Given the description of an element on the screen output the (x, y) to click on. 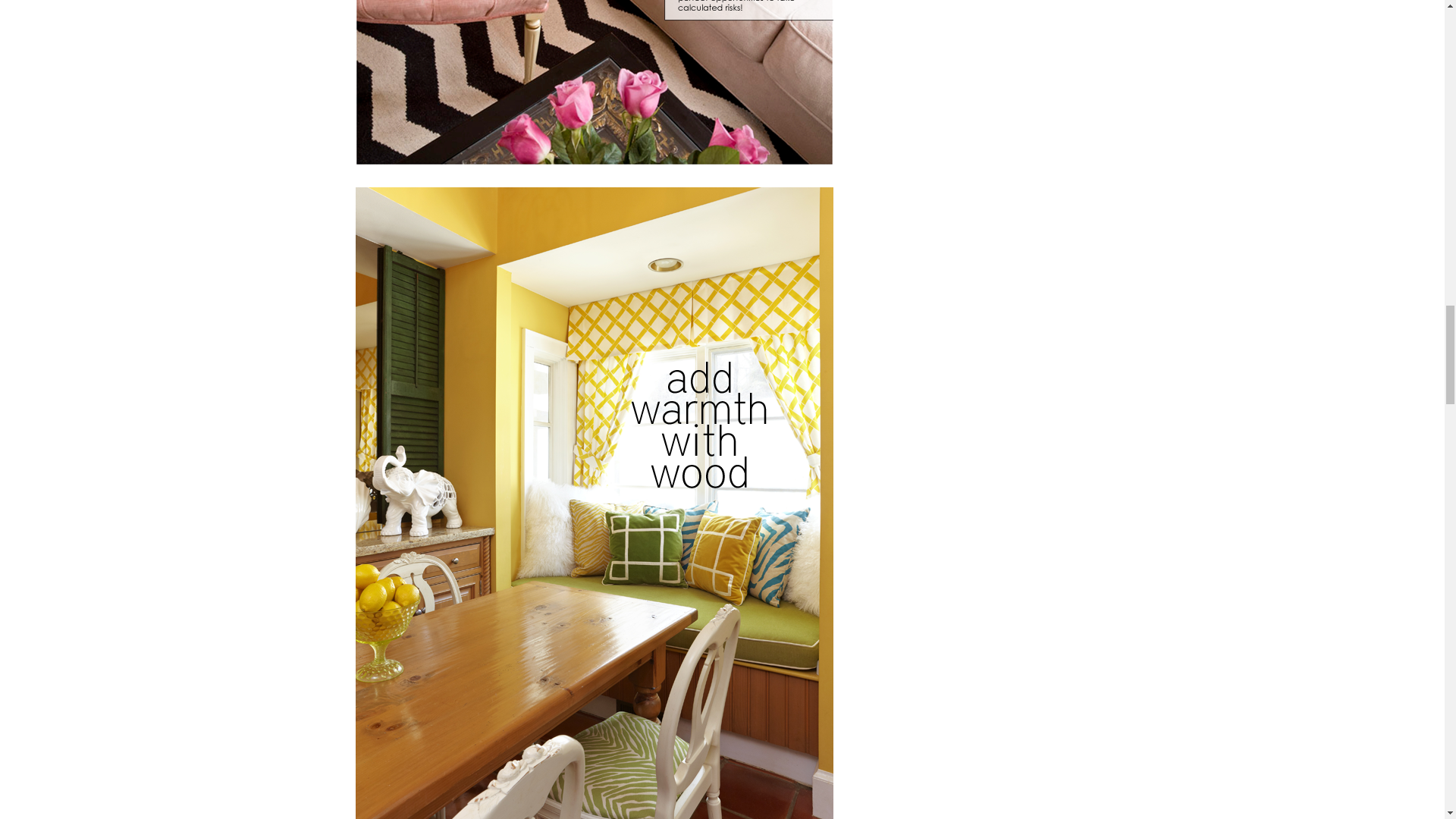
Marmalade-Interiors-family-room-closeup-BLB (593, 82)
